Given the description of an element on the screen output the (x, y) to click on. 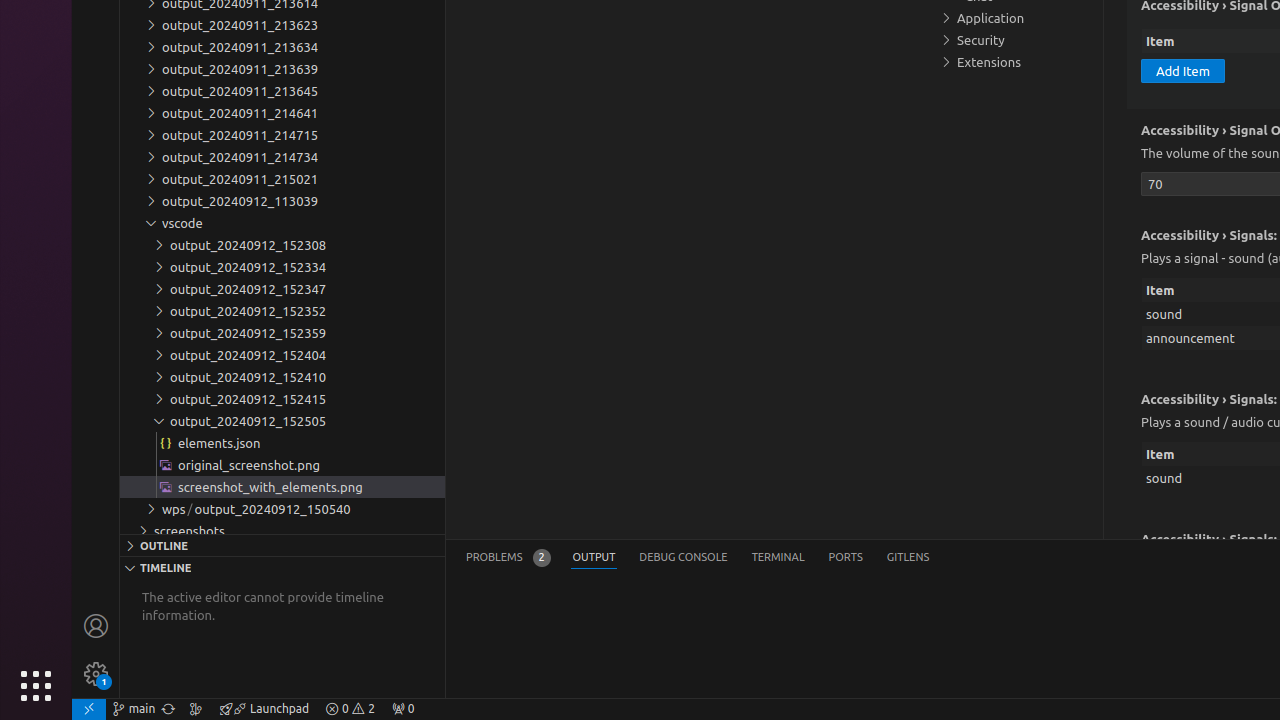
output_20240912_152505 Element type: tree-item (282, 421)
output_20240912_152359 Element type: tree-item (282, 333)
output_20240911_213623 Element type: tree-item (282, 25)
screenshots Element type: tree-item (282, 531)
wps Element type: tree-item (178, 509)
